Given the description of an element on the screen output the (x, y) to click on. 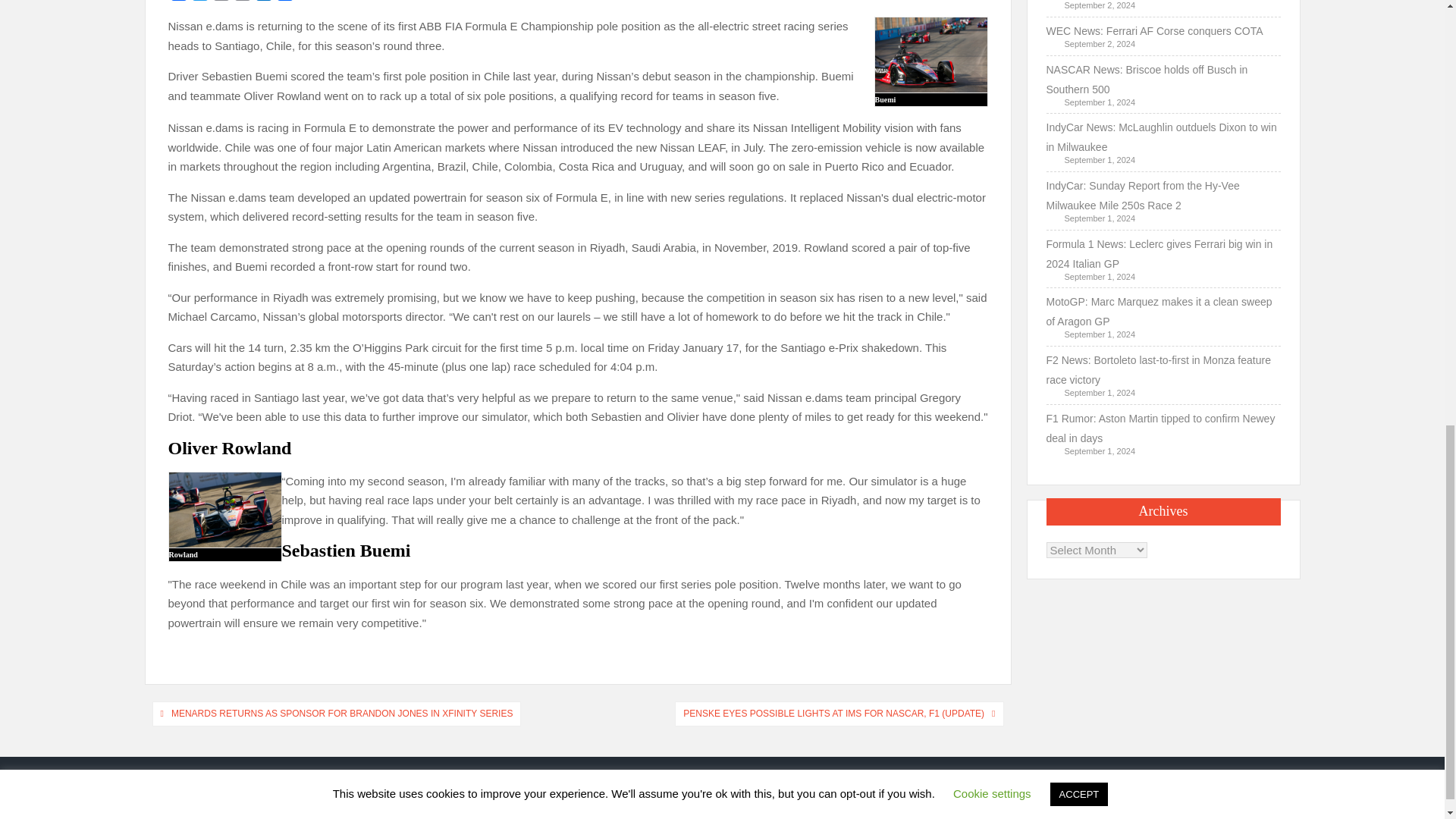
Twitter (200, 2)
Outlook.com (264, 2)
Facebook (178, 2)
Email (221, 2)
Copy Link (242, 2)
